Given the description of an element on the screen output the (x, y) to click on. 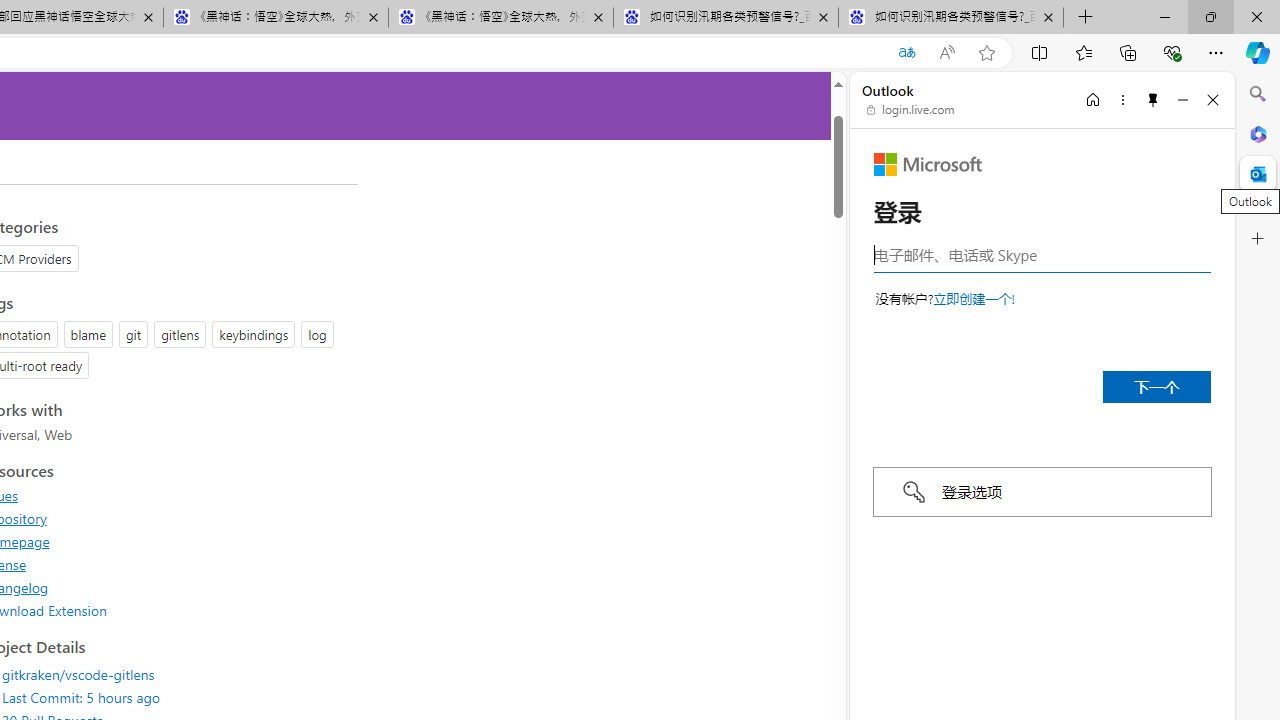
login.live.com (911, 110)
Unpin side pane (1153, 99)
